Given the description of an element on the screen output the (x, y) to click on. 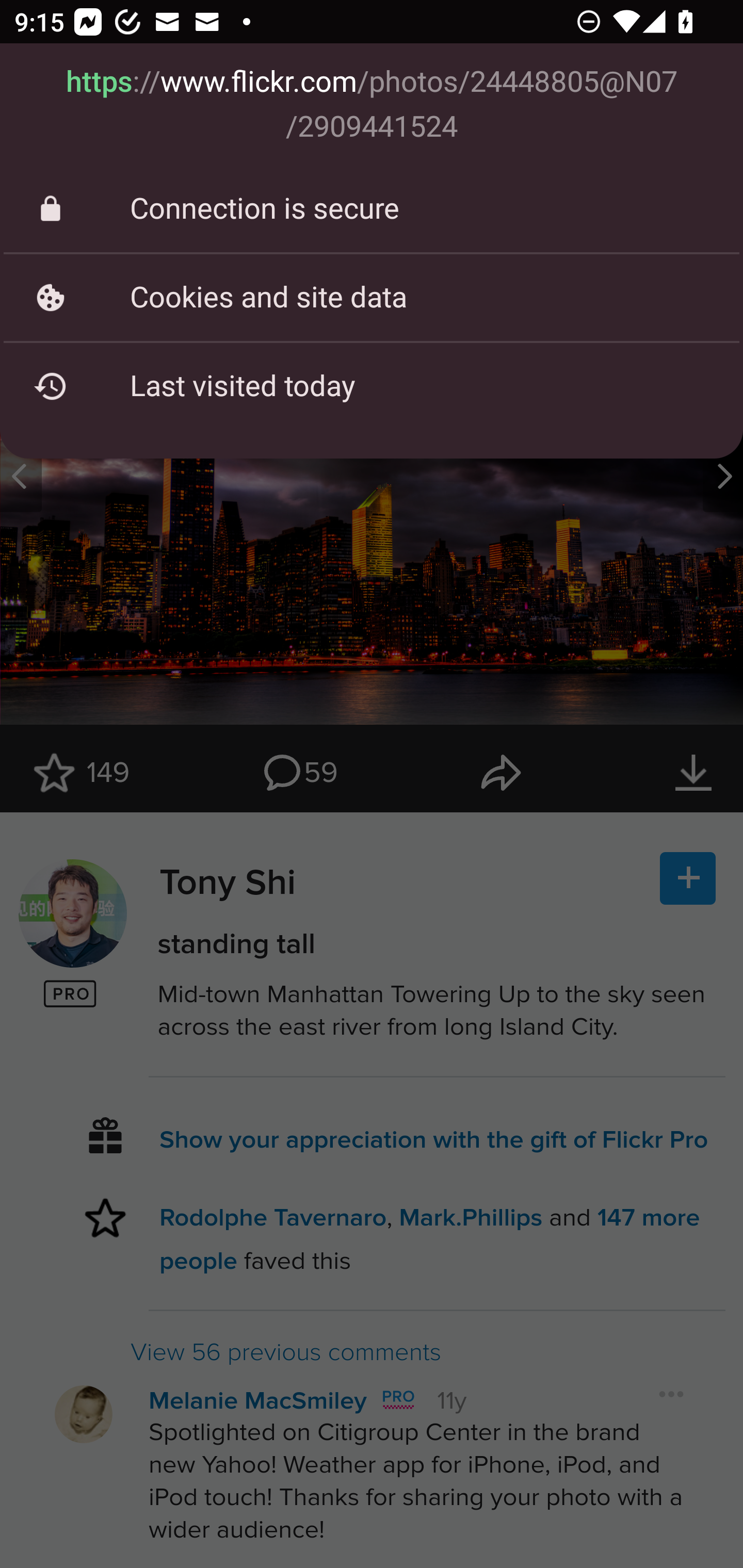
Connection is secure (371, 209)
Cookies and site data (371, 297)
Last visited today (371, 386)
